Given the description of an element on the screen output the (x, y) to click on. 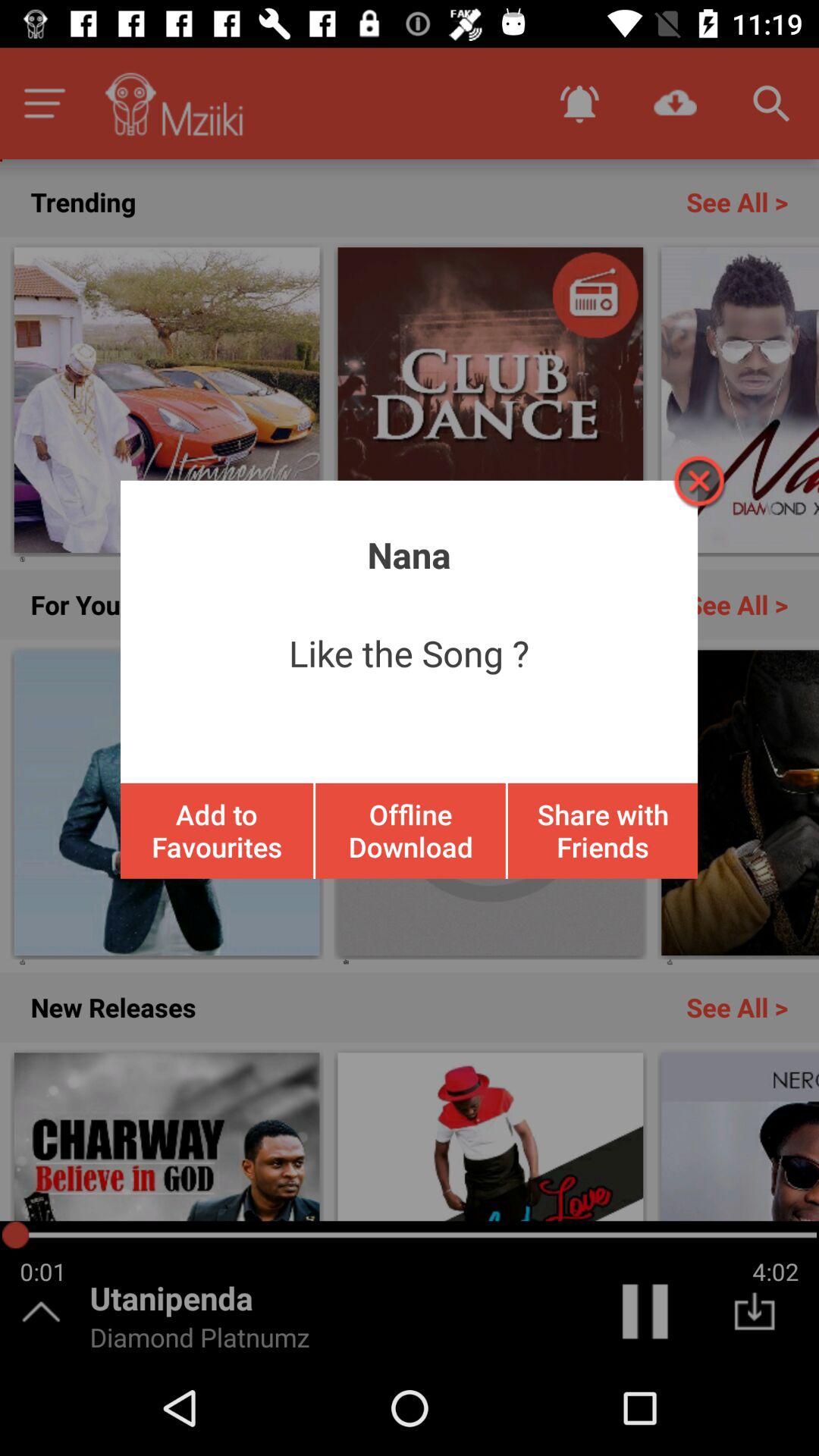
open add to favourites on the left (216, 830)
